Given the description of an element on the screen output the (x, y) to click on. 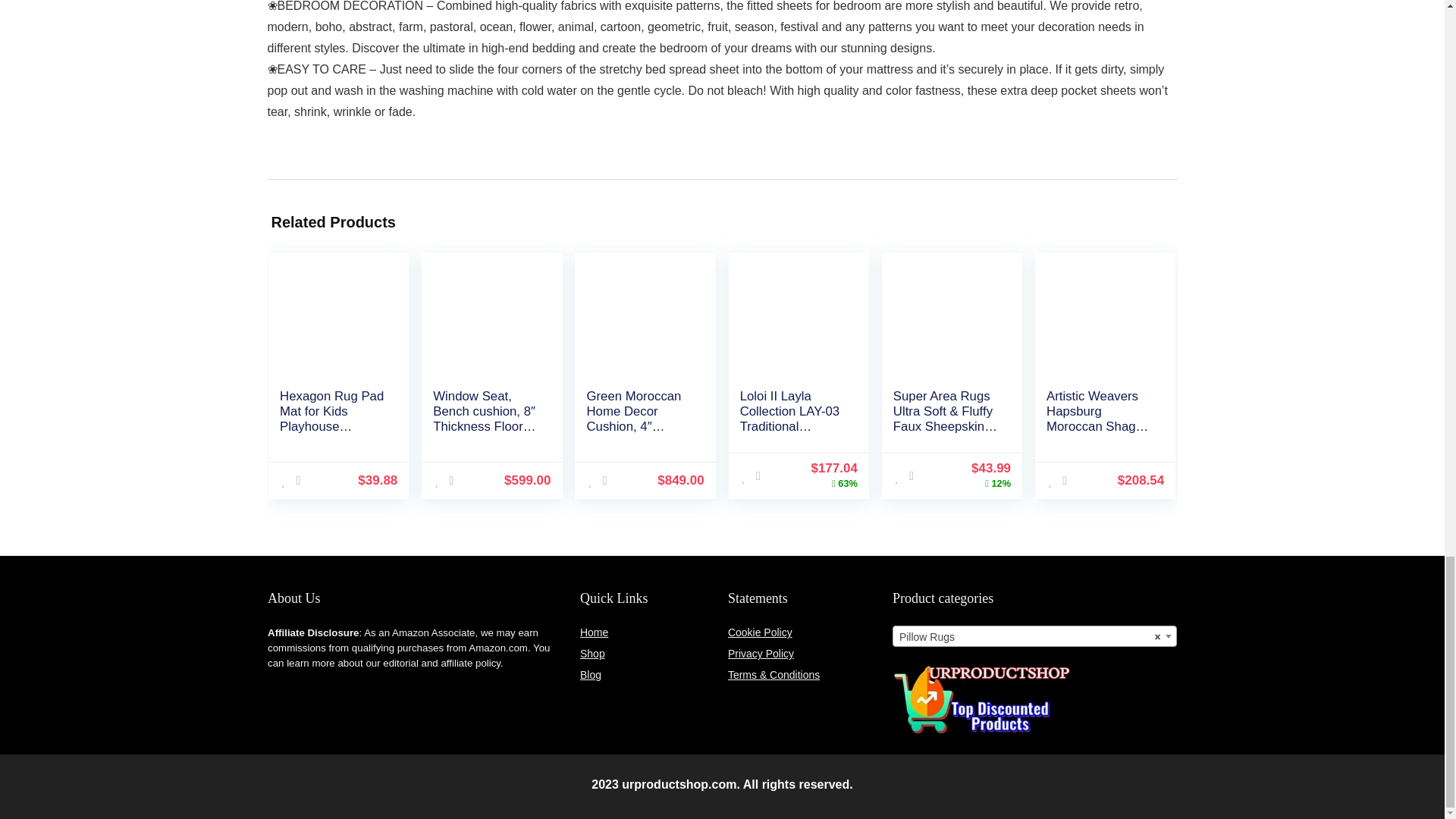
Pillow Rugs (1034, 636)
